Given the description of an element on the screen output the (x, y) to click on. 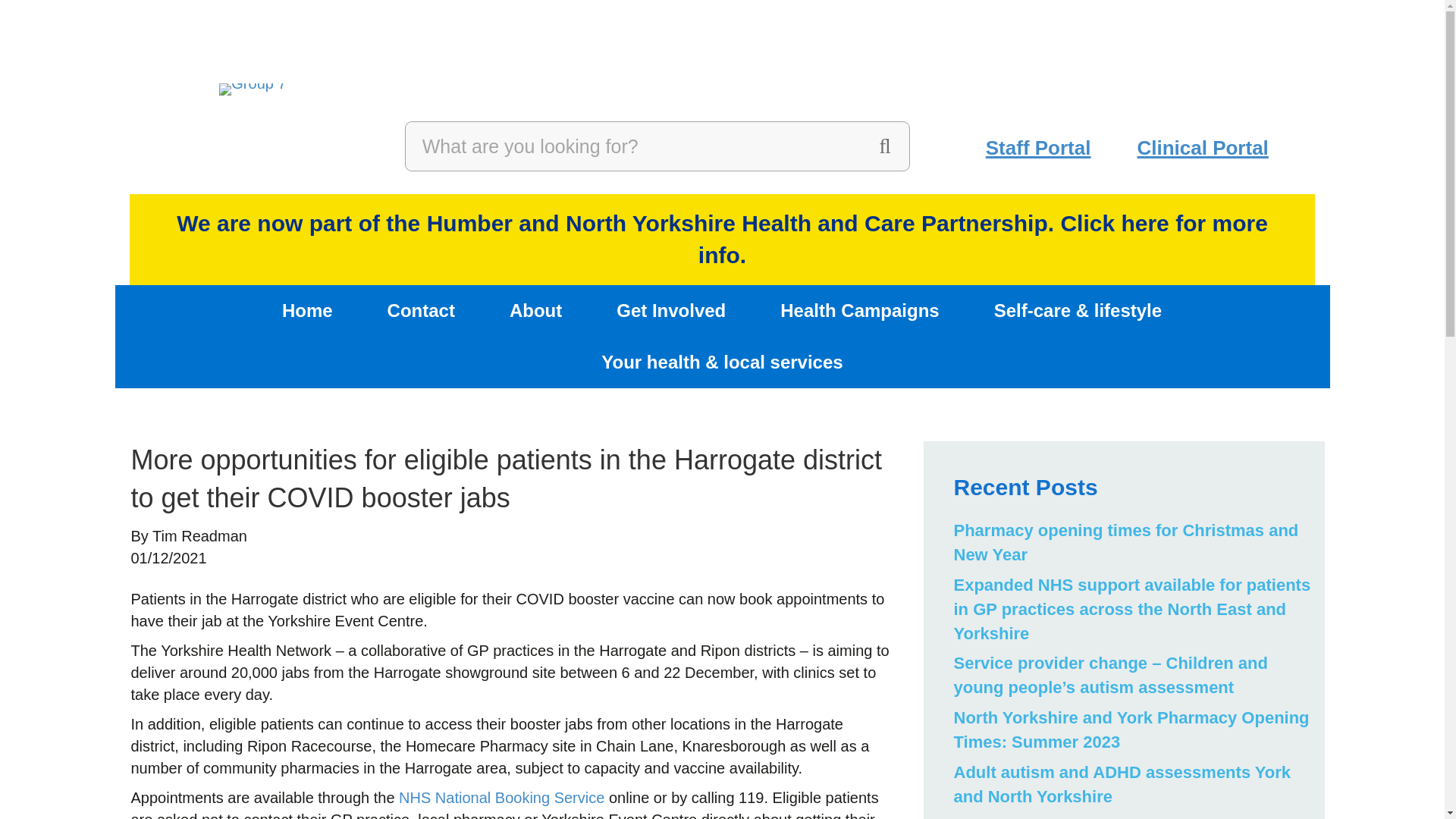
Home (307, 310)
Contact (421, 310)
Group 7 (252, 89)
Get Involved (670, 310)
Staff Portal (1037, 147)
Health Campaigns (860, 310)
Search (633, 146)
Clinical Portal (1201, 147)
